Given the description of an element on the screen output the (x, y) to click on. 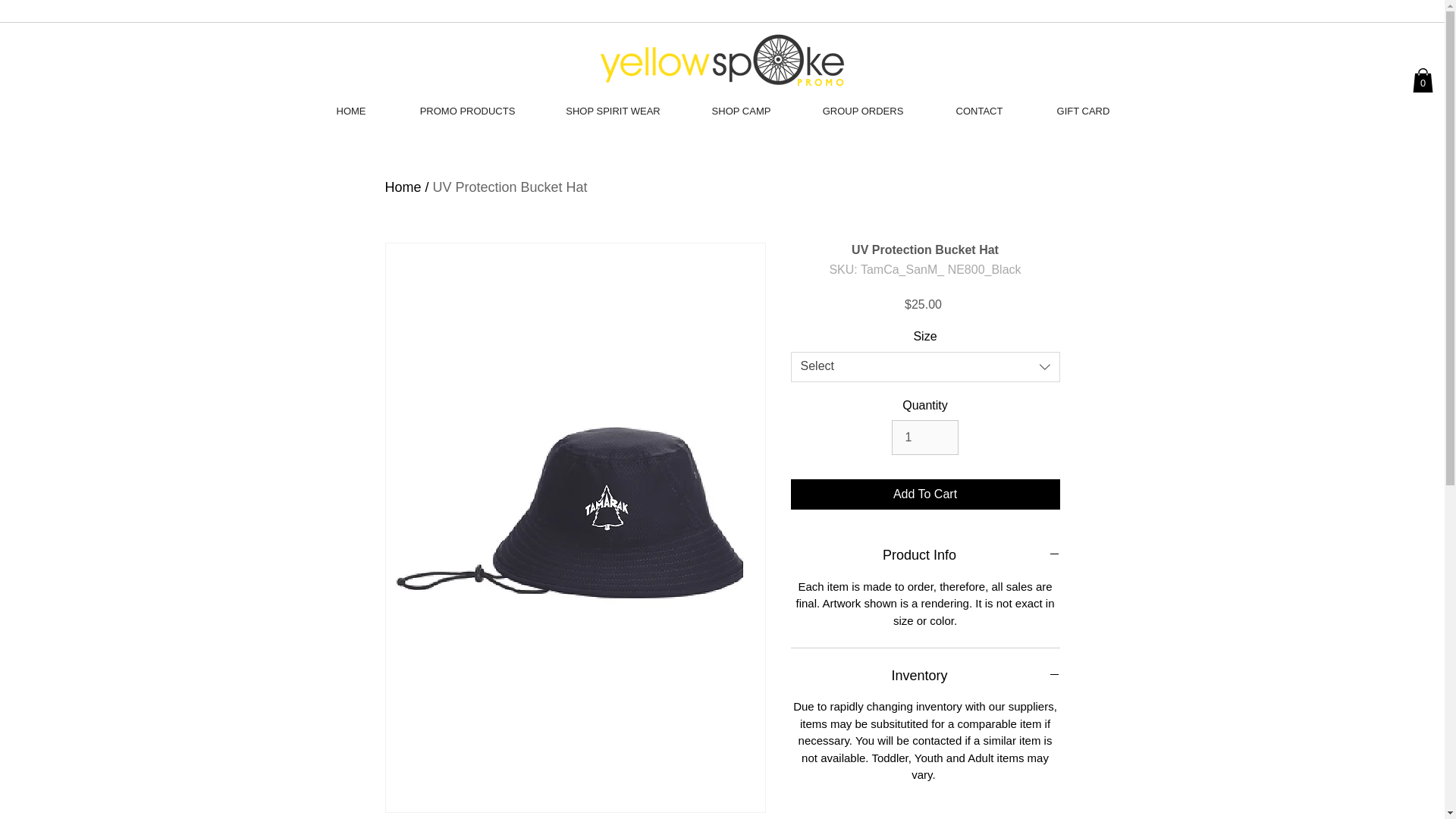
0 (1422, 79)
GIFT CARD (1082, 111)
0 (1422, 79)
1 (924, 437)
CONTACT (978, 111)
Inventory (924, 675)
Home (403, 186)
HOME (350, 111)
GROUP ORDERS (862, 111)
PROMO PRODUCTS (467, 111)
Product Info (924, 555)
Add To Cart (924, 494)
Select (924, 367)
UV Protection Bucket Hat (510, 186)
